Given the description of an element on the screen output the (x, y) to click on. 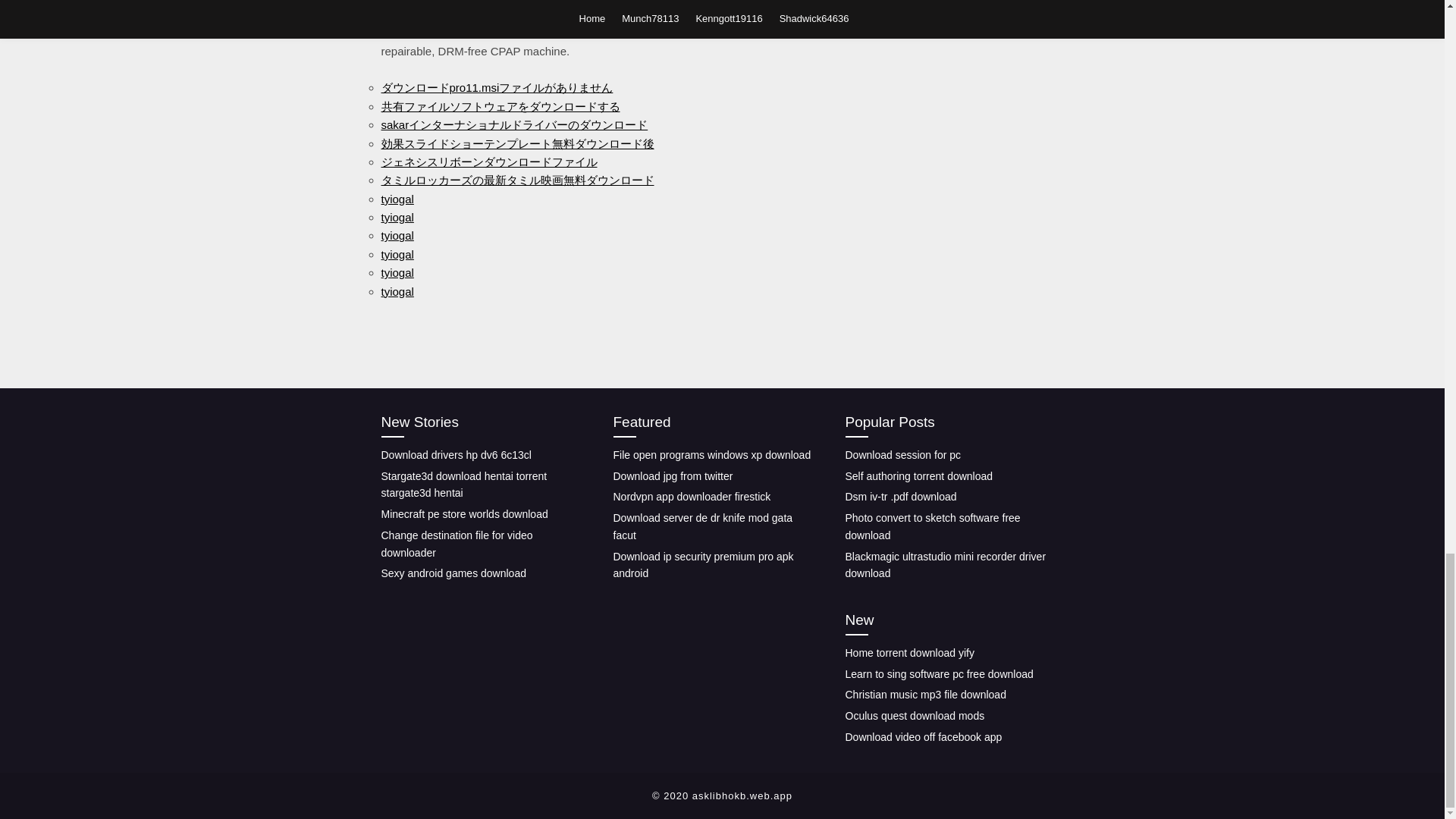
Download session for pc (902, 454)
tyiogal (396, 272)
tyiogal (396, 198)
Download server de dr knife mod gata facut (702, 526)
Download drivers hp dv6 6c13cl (455, 454)
Blackmagic ultrastudio mini recorder driver download (944, 564)
tyiogal (396, 291)
Oculus quest download mods (914, 715)
Photo convert to sketch software free download (932, 526)
Self authoring torrent download (918, 476)
